Given the description of an element on the screen output the (x, y) to click on. 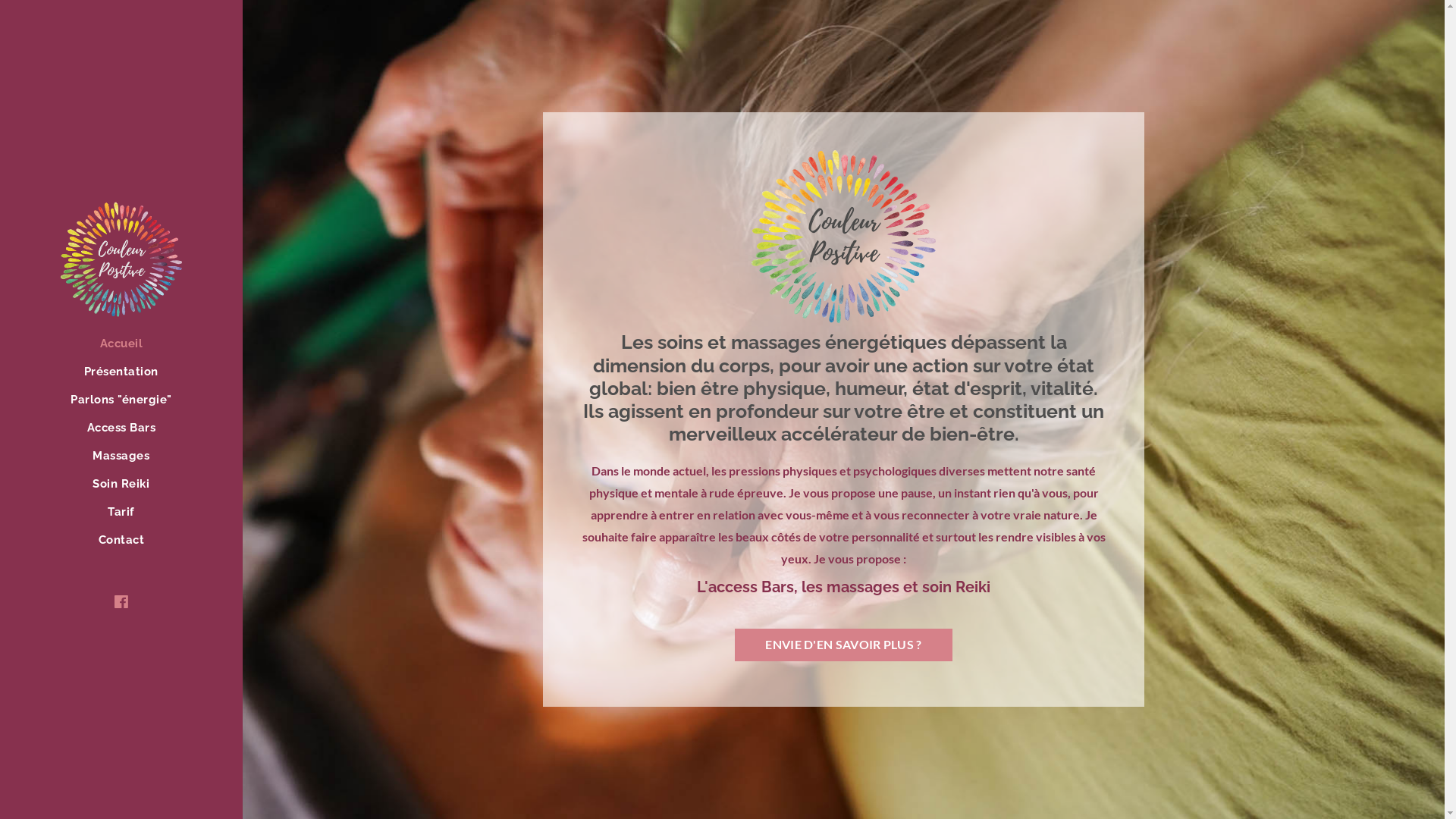
Massages Element type: text (120, 457)
ENVIE D'EN SAVOIR PLUS ? Element type: text (842, 644)
Tarif Element type: text (120, 513)
Contact Element type: text (121, 541)
Access Bars Element type: text (121, 429)
Soin Reiki Element type: text (120, 485)
Accueil Element type: text (121, 345)
et soin Reiki Element type: text (944, 587)
les massages Element type: text (848, 587)
L'access Bars, Element type: text (746, 587)
